Given the description of an element on the screen output the (x, y) to click on. 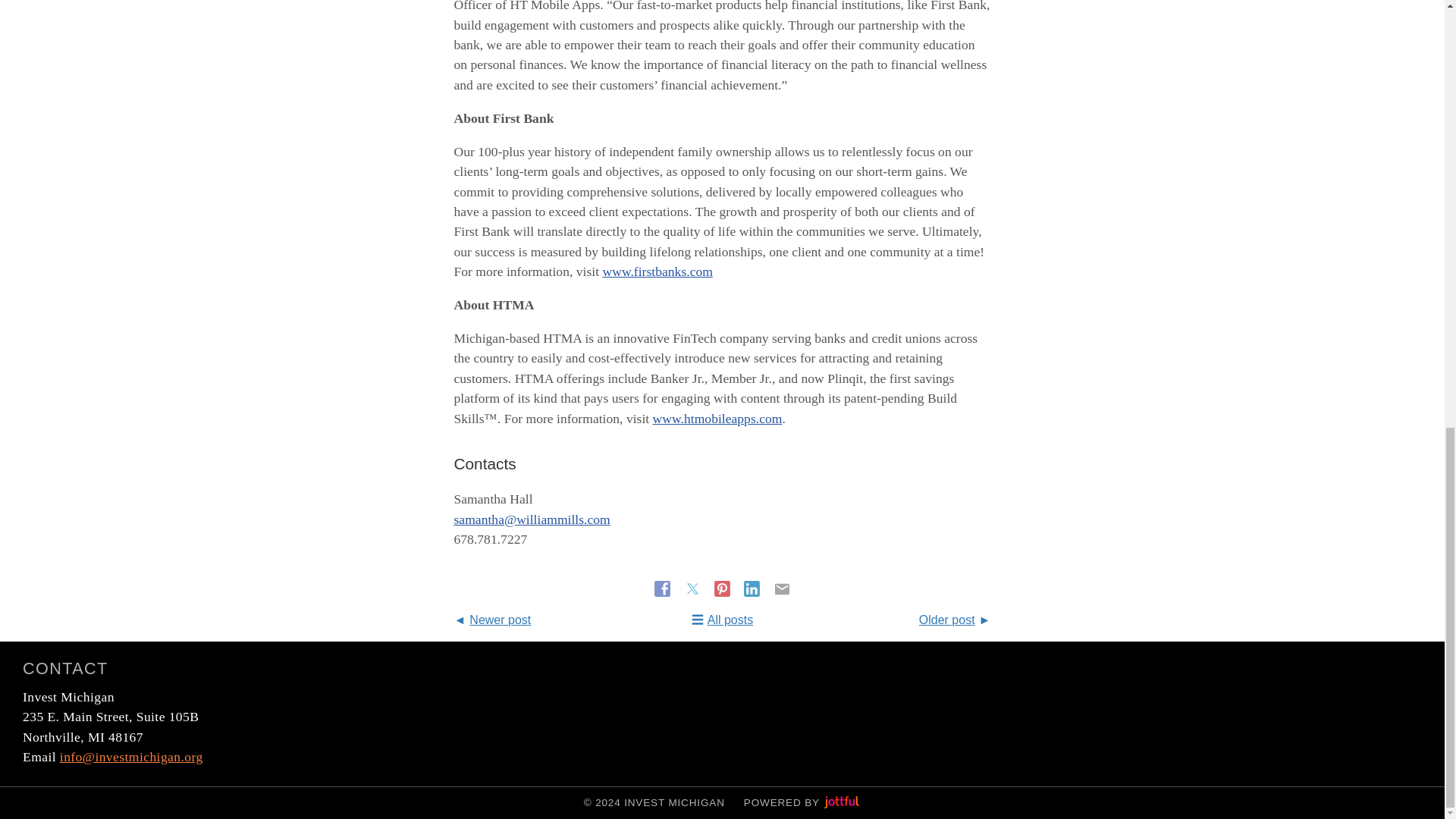
write email (131, 756)
Newer post (491, 619)
Tweet this (693, 589)
Share in an email (782, 589)
All posts (721, 619)
Share on LinkedIn (753, 589)
Share on Facebook (663, 589)
www.htmobileapps.com (717, 418)
www.firstbanks.com (656, 271)
Older post (954, 619)
